Given the description of an element on the screen output the (x, y) to click on. 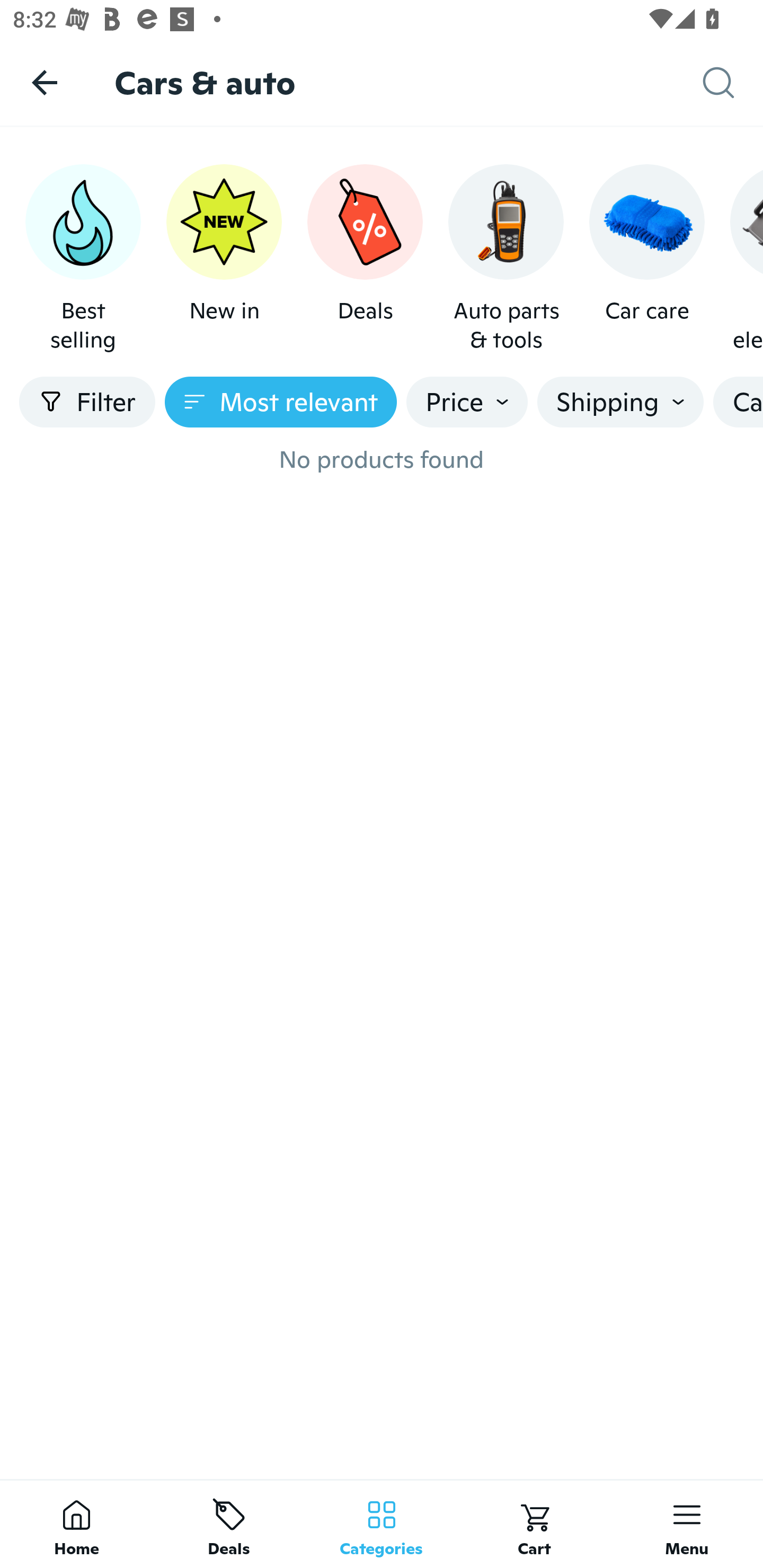
Navigate up (44, 82)
Search (732, 82)
Best selling (83, 259)
New in (223, 259)
Deals (364, 259)
Auto parts & tools (505, 259)
Car care (647, 259)
Filter (86, 402)
Most relevant (280, 402)
Price (466, 402)
Shipping (620, 402)
Home (76, 1523)
Deals (228, 1523)
Categories (381, 1523)
Cart (533, 1523)
Menu (686, 1523)
